Given the description of an element on the screen output the (x, y) to click on. 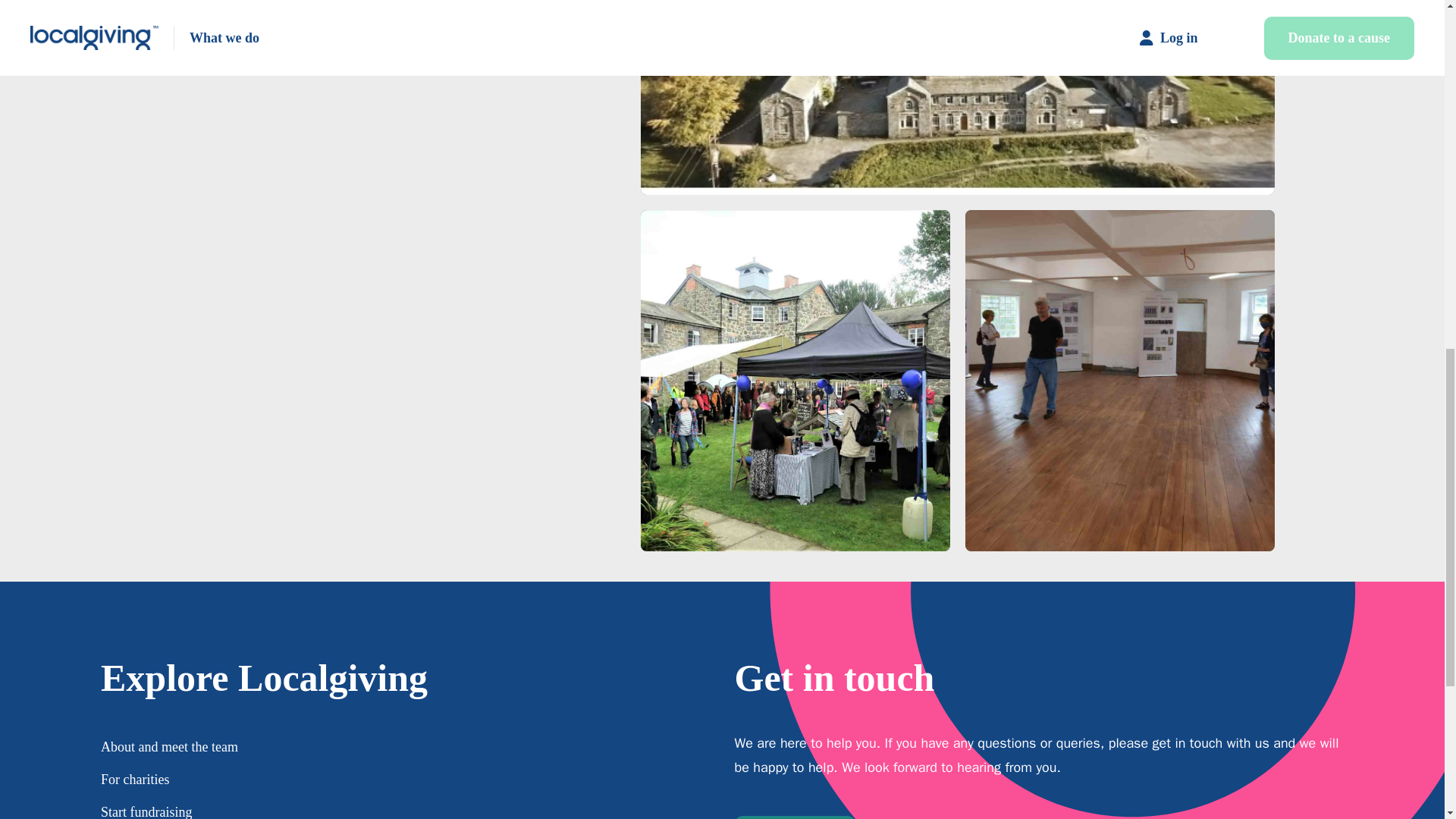
For charities (134, 779)
Get in touch (793, 817)
Start fundraising (146, 811)
About and meet the team (169, 746)
